Given the description of an element on the screen output the (x, y) to click on. 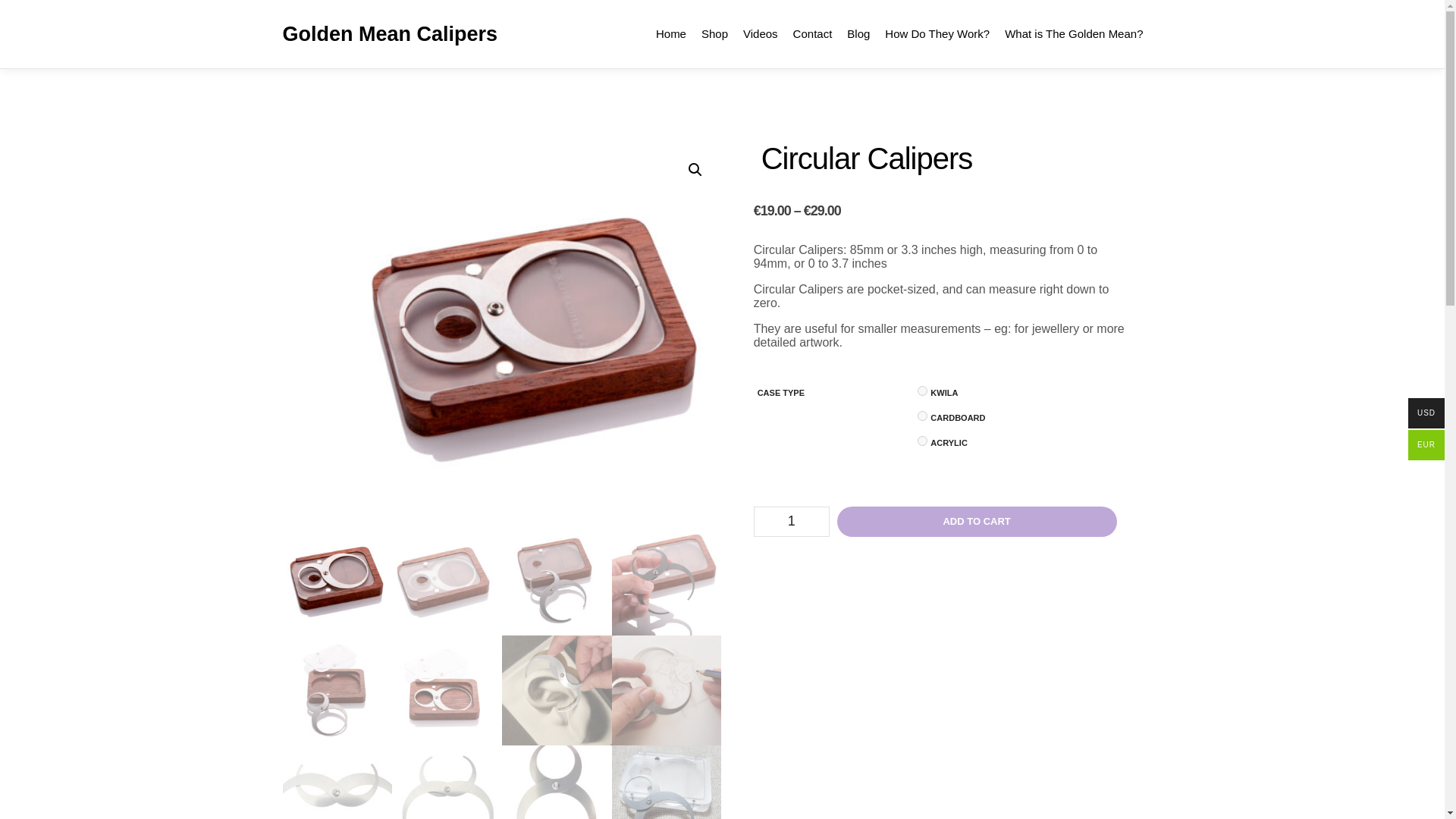
acrylic (922, 440)
kwila (922, 390)
ADD TO CART (976, 521)
cardboard (922, 415)
Golden Mean Calipers (357, 33)
1 (791, 521)
How Do They Work? (937, 33)
Golden Mean Calipers (357, 33)
What is The Golden Mean? (1073, 33)
